Given the description of an element on the screen output the (x, y) to click on. 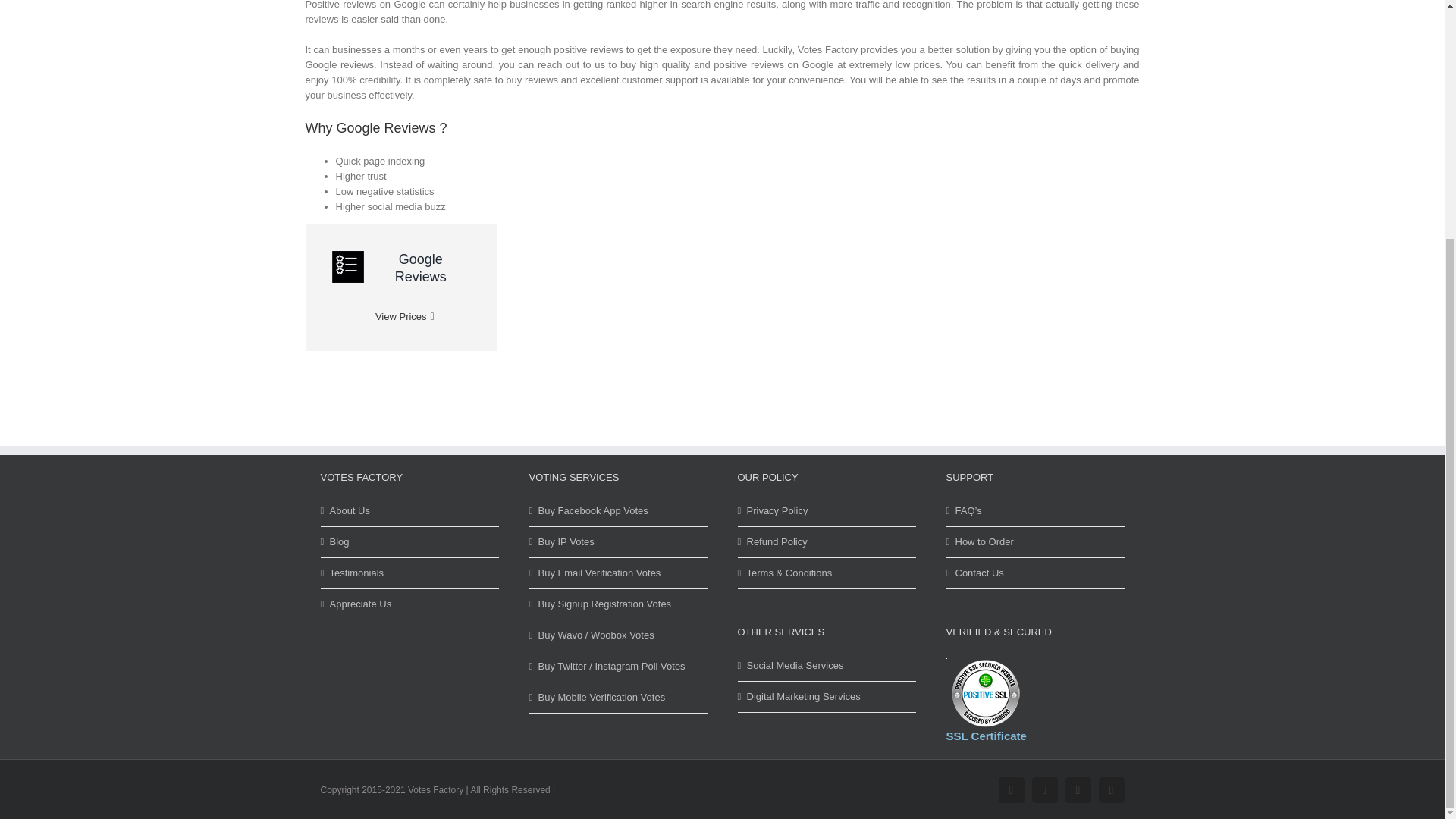
Facebook (1010, 790)
YouTube (1077, 790)
LinkedIn (1110, 790)
SSL Certificate (985, 693)
Twitter (1043, 790)
